Given the description of an element on the screen output the (x, y) to click on. 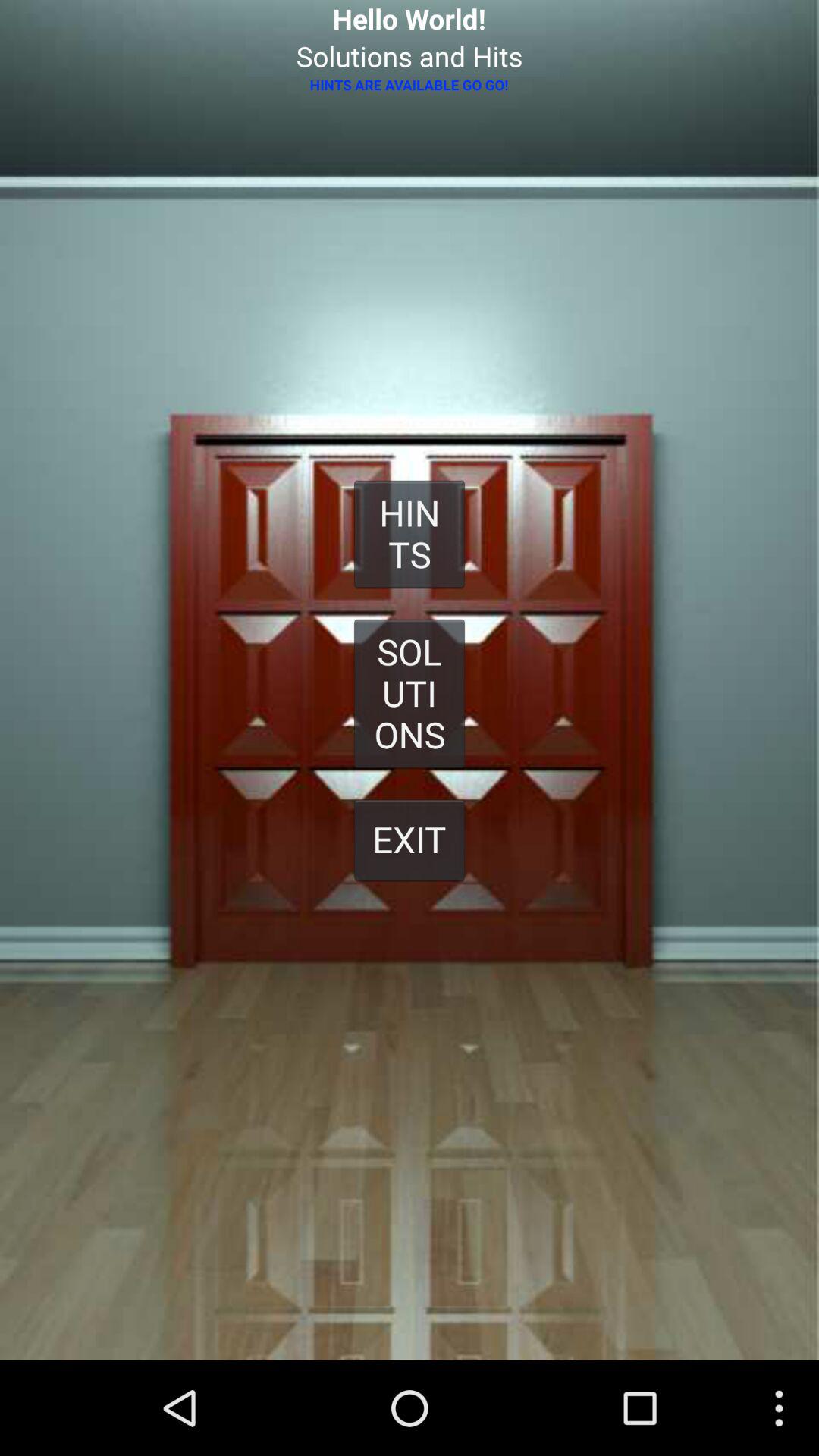
swipe until exit button (409, 839)
